Given the description of an element on the screen output the (x, y) to click on. 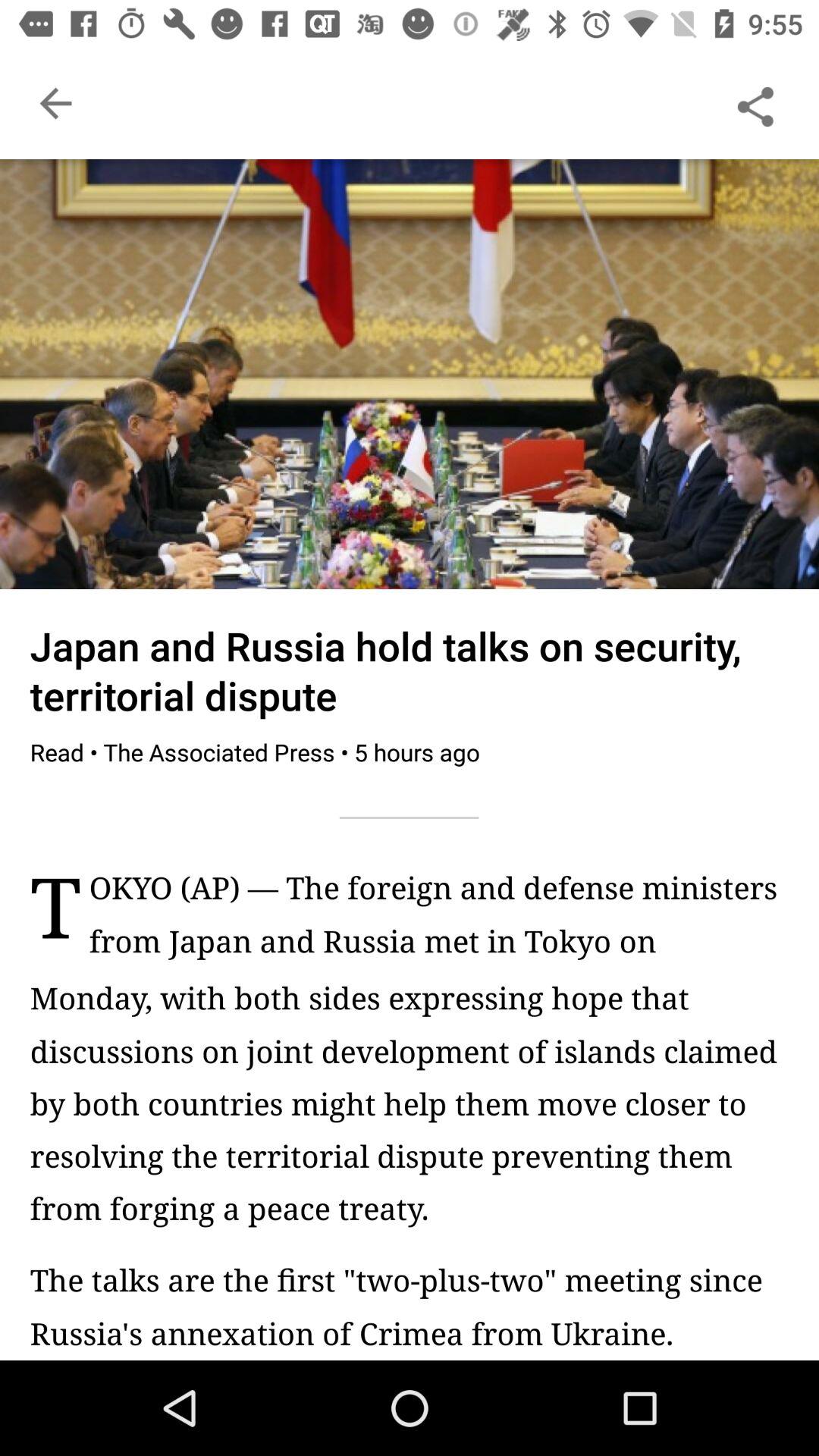
share option (755, 103)
